Given the description of an element on the screen output the (x, y) to click on. 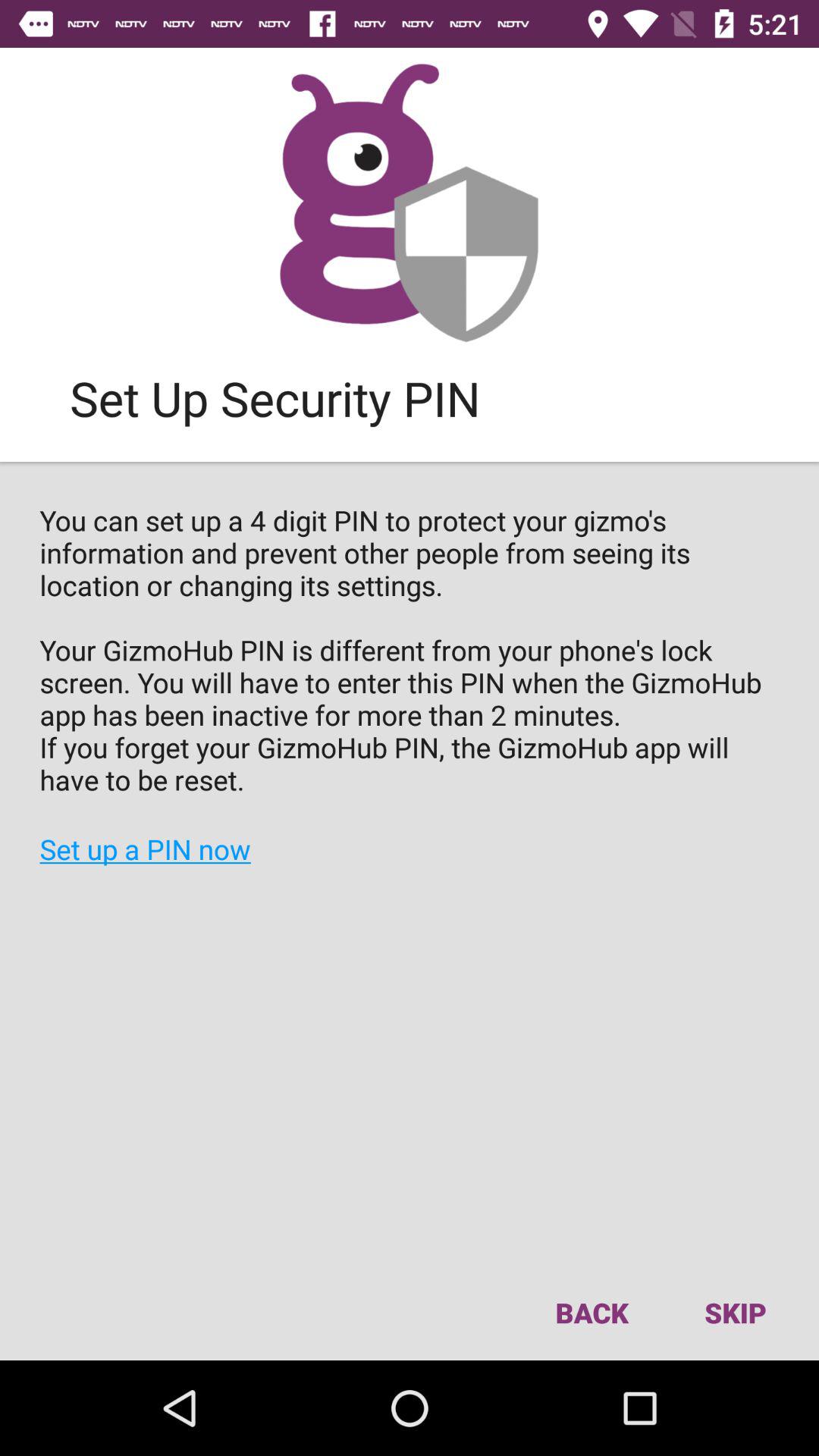
turn on icon next to the back (735, 1312)
